Given the description of an element on the screen output the (x, y) to click on. 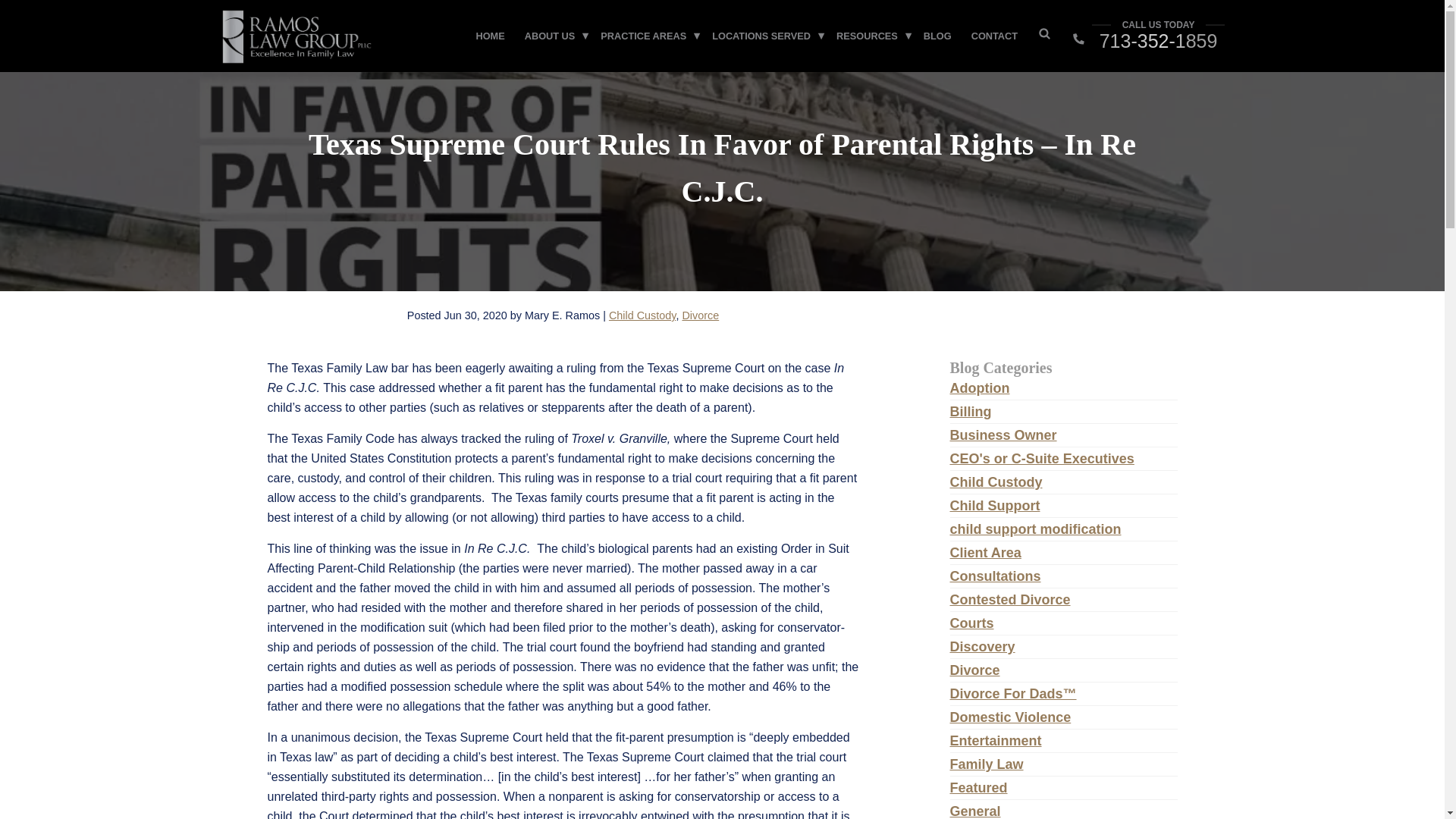
HOME (489, 35)
ABOUT US (549, 35)
PRACTICE AREAS (643, 35)
